Given the description of an element on the screen output the (x, y) to click on. 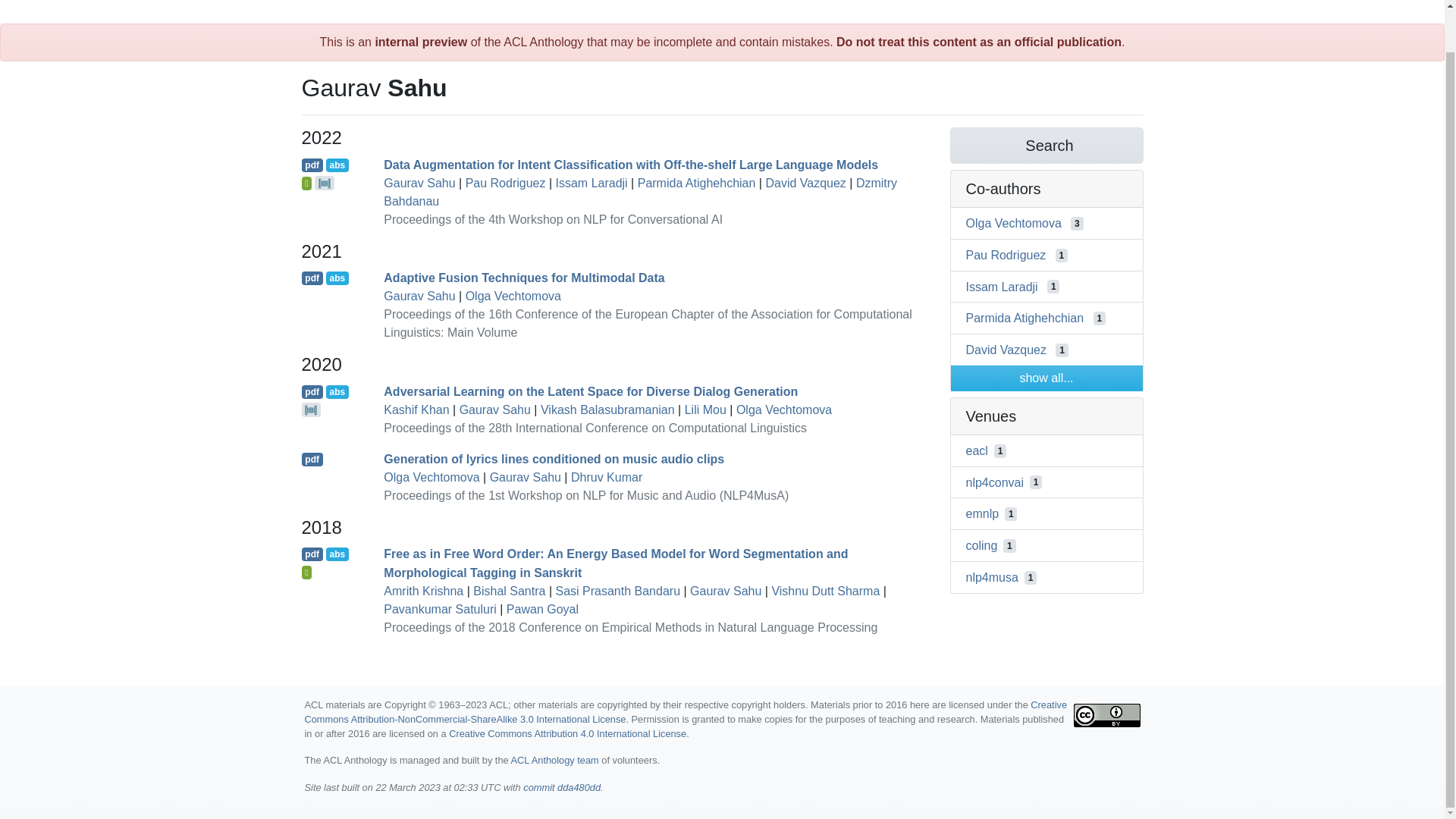
Code (311, 409)
Gaurav Sahu (419, 295)
pdf (312, 278)
pdf (312, 391)
Code (324, 183)
Olga Vechtomova (512, 295)
David Vazquez (805, 182)
Search for 'Gaurav Sahu' on Semantic Scholar (1045, 145)
Adaptive Fusion Techniques for Multimodal Data (523, 277)
Vikash Balasubramanian (607, 409)
Open PDF (312, 459)
abs (337, 391)
Show Abstract (337, 554)
Gaurav Sahu (524, 477)
Olga Vechtomova (431, 477)
